Given the description of an element on the screen output the (x, y) to click on. 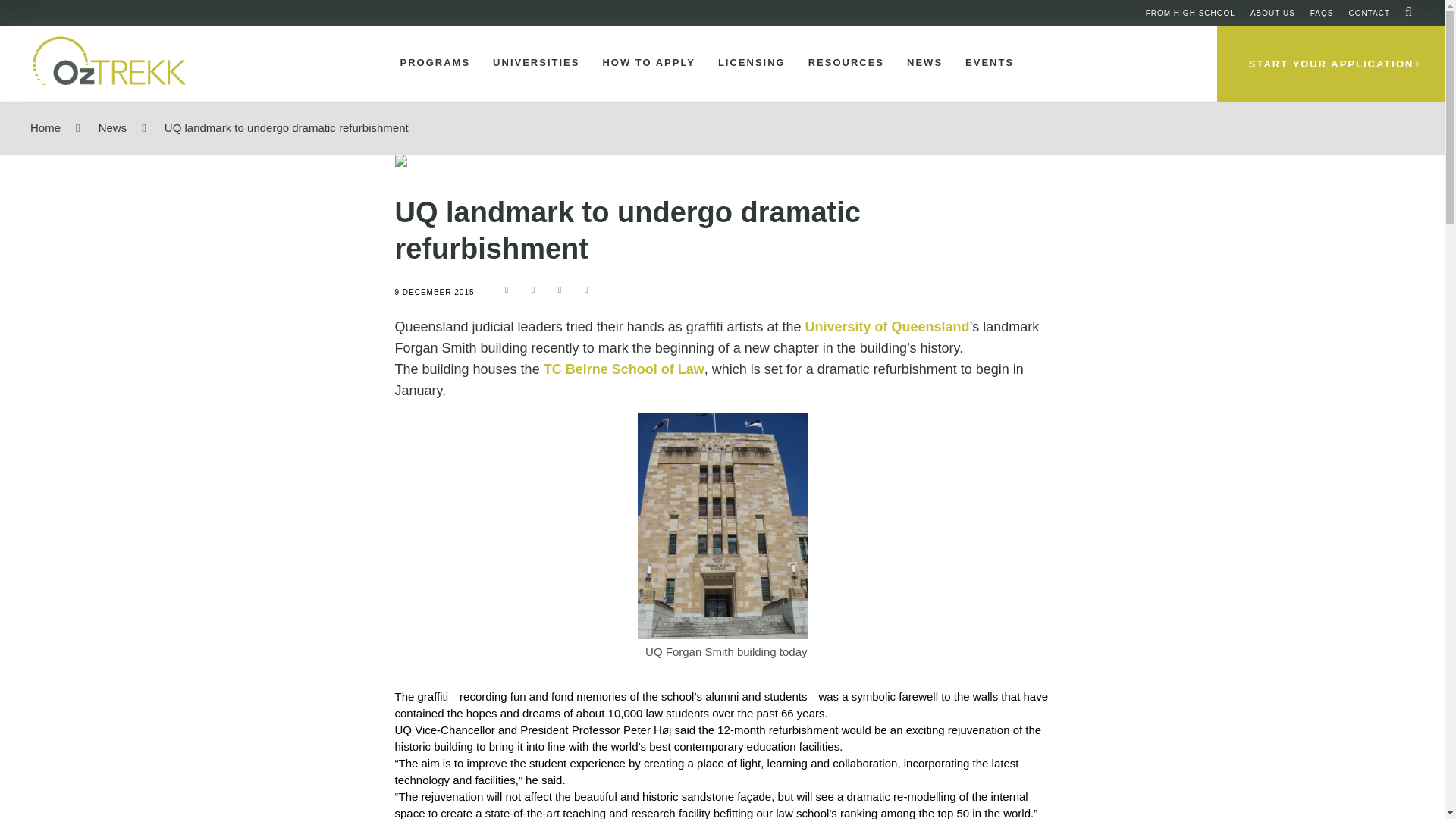
ABOUT US (1272, 13)
CONTACT (1369, 13)
FAQS (1321, 13)
TC Beirne School of Law - UQ Law School (623, 368)
Learn more about UQ (887, 326)
FROM HIGH SCHOOL (1189, 13)
PROGRAMS (432, 63)
